Given the description of an element on the screen output the (x, y) to click on. 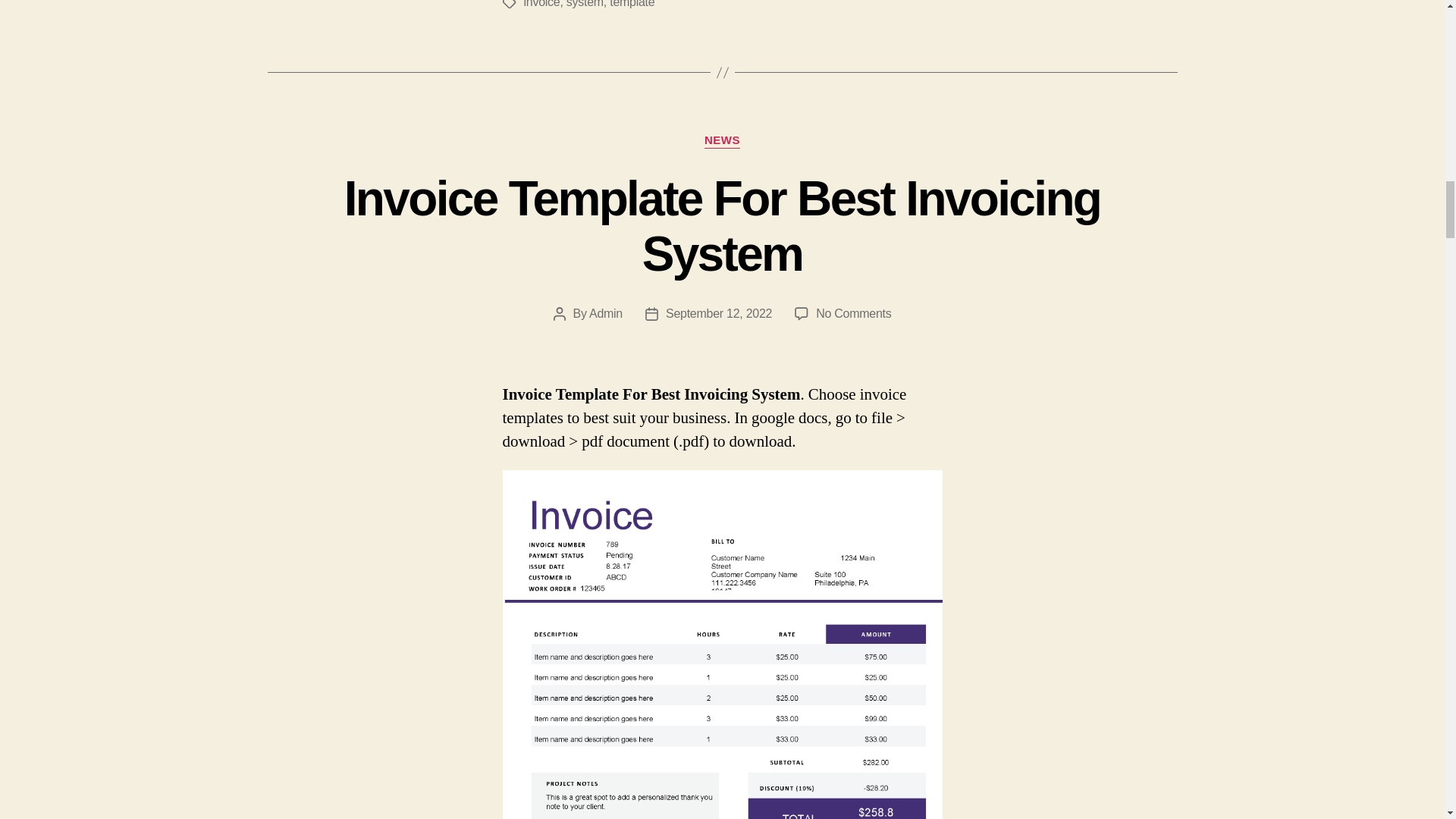
invoice (540, 4)
Admin (606, 313)
NEWS (721, 140)
September 12, 2022 (718, 313)
Invoice Template For Best Invoicing System (721, 226)
system (585, 4)
template (631, 4)
